Given the description of an element on the screen output the (x, y) to click on. 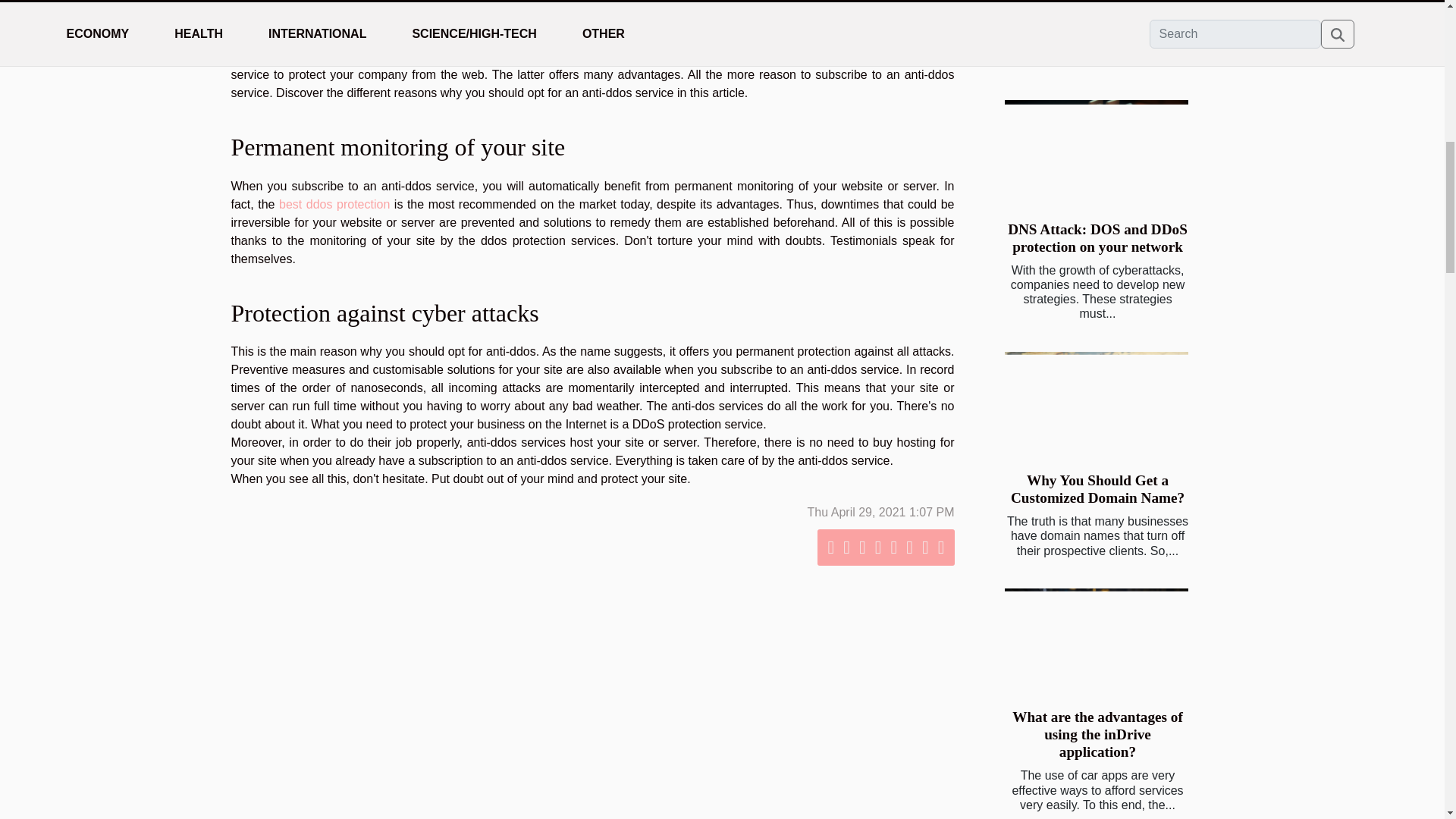
What are the advantages of using the inDrive application? (1096, 734)
What are the advantages of using the inDrive application? (1096, 640)
DNS Attack: DOS and DDoS protection on your network (1096, 152)
What are the advantages of using the inDrive application? (1096, 734)
DNS Attack: DOS and DDoS protection on your network (1097, 237)
Why You Should Get a Customized Domain Name? (1097, 489)
DNS Attack: DOS and DDoS protection on your network (1097, 237)
Why You Should Get a Customized Domain Name? (1097, 489)
best ddos protection (334, 204)
Why You Should Get a Customized Domain Name? (1096, 404)
